Given the description of an element on the screen output the (x, y) to click on. 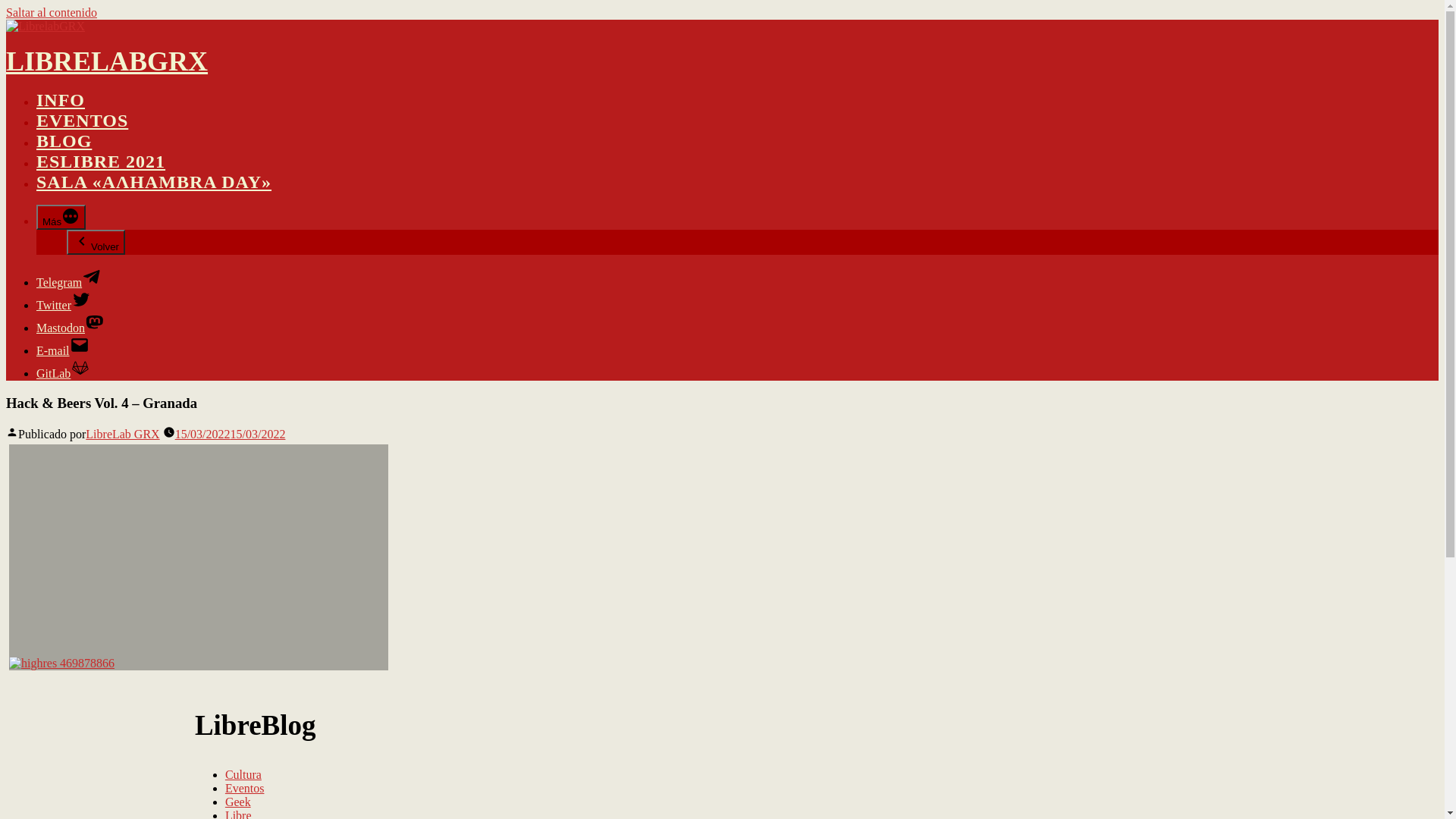
BLOG Element type: text (63, 140)
15/03/202215/03/2022 Element type: text (230, 433)
Volver Element type: text (95, 241)
Geek Element type: text (238, 801)
Cultura Element type: text (243, 774)
INFO Element type: text (60, 99)
E-mail Element type: text (62, 350)
Telegram Element type: text (68, 282)
Saltar al contenido Element type: text (51, 12)
Twitter Element type: text (63, 304)
Mastodon Element type: text (70, 327)
LIBRELABGRX Element type: text (106, 61)
Eventos Element type: text (244, 787)
GitLab Element type: text (63, 373)
ESLIBRE 2021 Element type: text (100, 161)
EVENTOS Element type: text (82, 120)
highres 469878866 Element type: hover (61, 663)
LibreLab GRX Element type: text (122, 433)
